Given the description of an element on the screen output the (x, y) to click on. 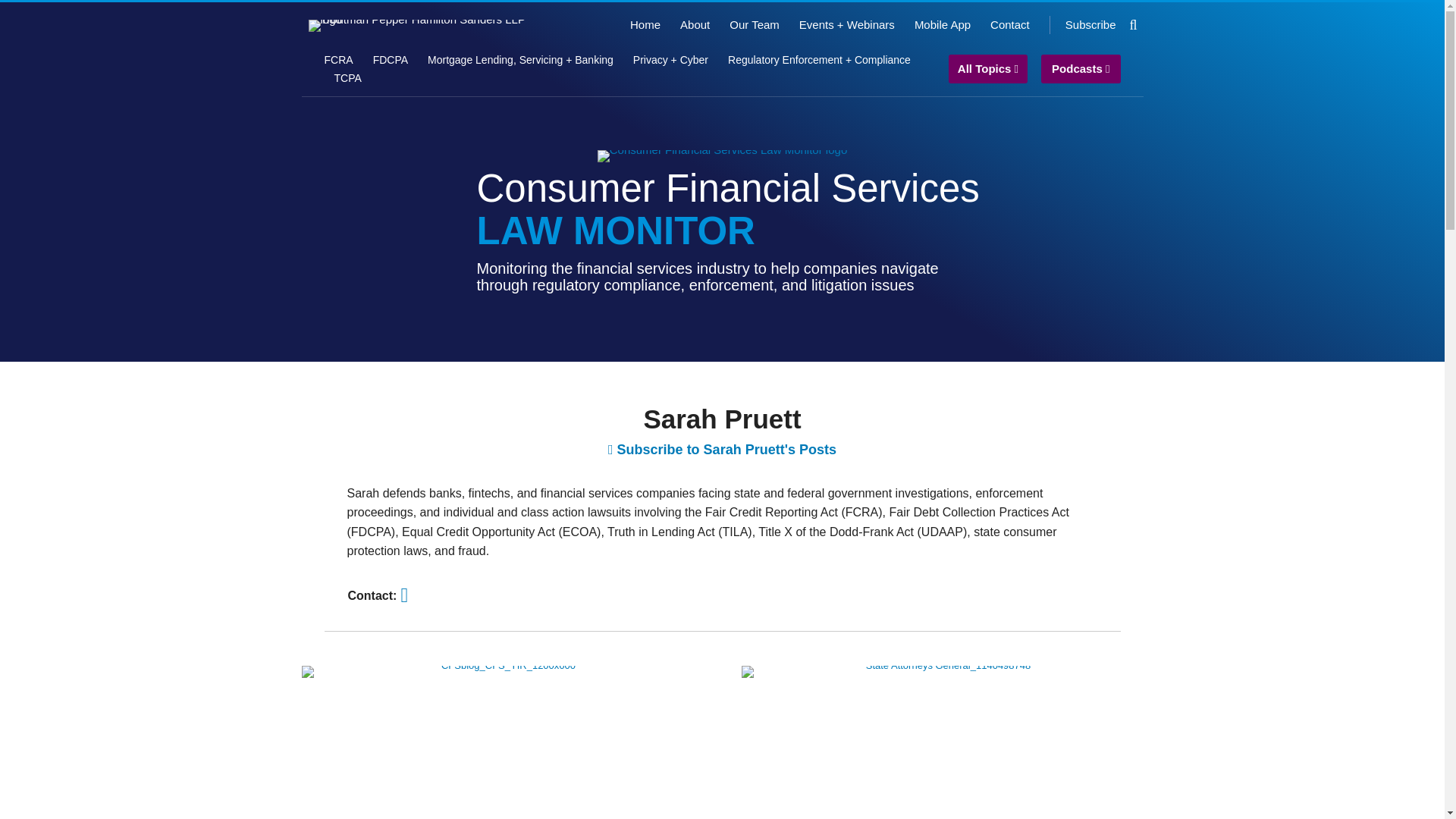
Subscribe (1090, 24)
Home (645, 24)
FDCPA (389, 59)
All Topics (988, 69)
Subscribe to Sarah Pruett's Posts (721, 449)
Contact (1009, 24)
Our Team (753, 24)
Podcasts (1081, 69)
Consumer Financial Services LAW MONITOR (728, 209)
Mobile App (942, 24)
